Given the description of an element on the screen output the (x, y) to click on. 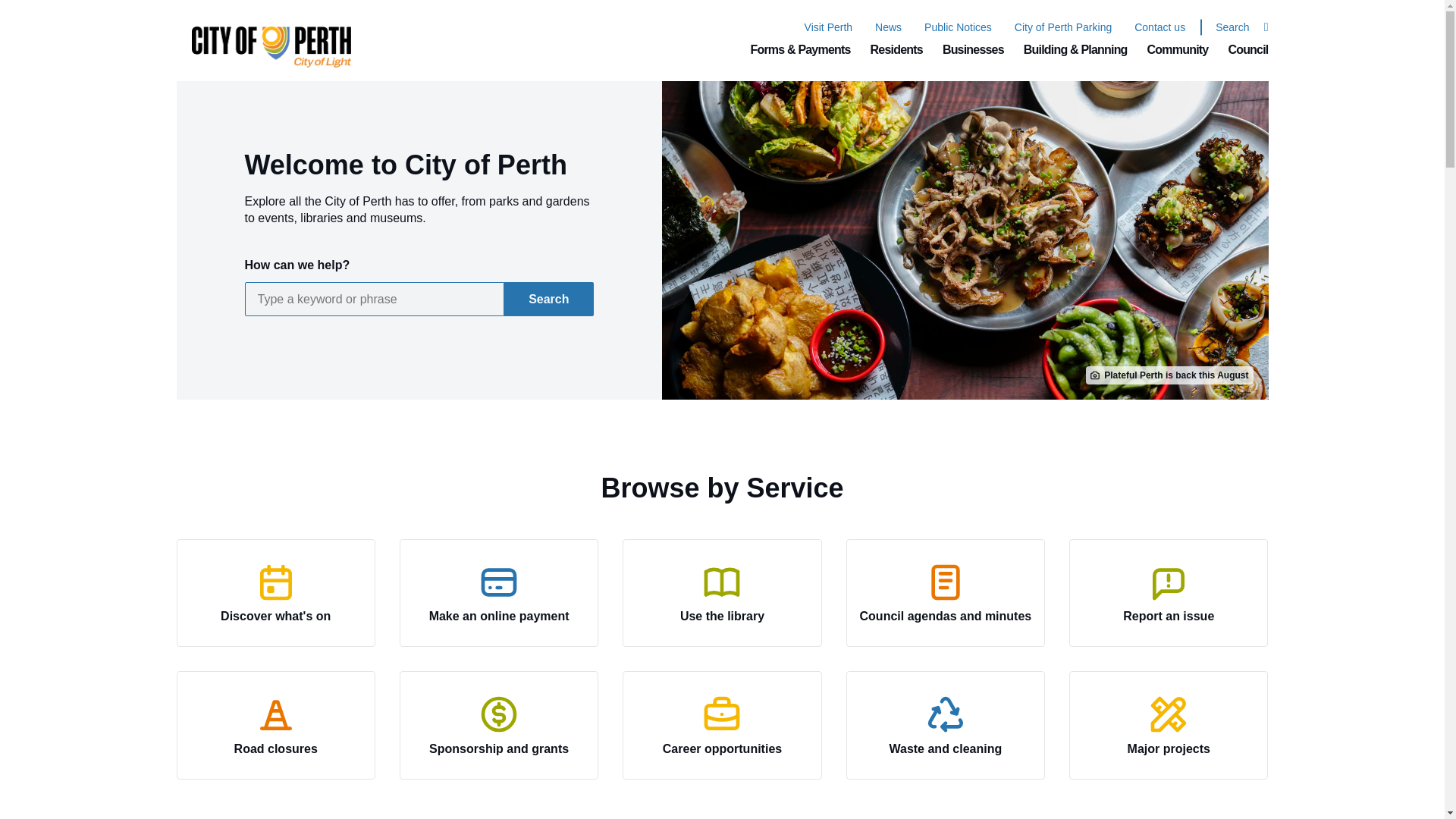
Residents (896, 49)
Header Logo (263, 40)
Visit Perth (829, 27)
Contact us (1159, 27)
Businesses (973, 49)
Search (1233, 27)
Public Notices (957, 27)
City of Perth Parking (1063, 27)
News (888, 27)
